Given the description of an element on the screen output the (x, y) to click on. 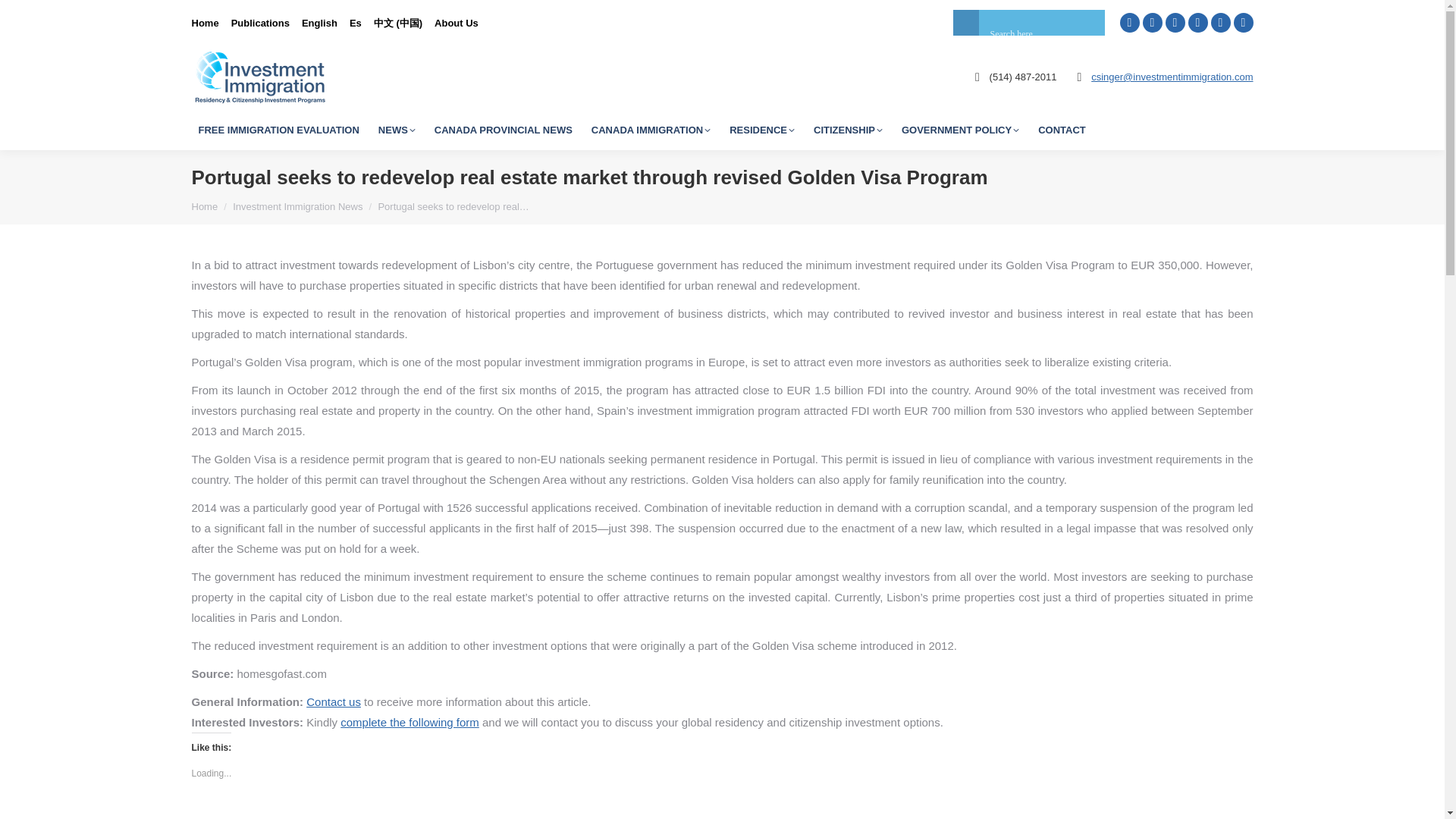
CANADA IMMIGRATION (651, 129)
Publications (260, 22)
English (319, 22)
YouTube page opens in new window (1197, 22)
Rss page opens in new window (1242, 22)
NEWS (396, 129)
X page opens in new window (1174, 22)
YouTube page opens in new window (1197, 22)
RESIDENCE (762, 129)
Home (204, 22)
